Given the description of an element on the screen output the (x, y) to click on. 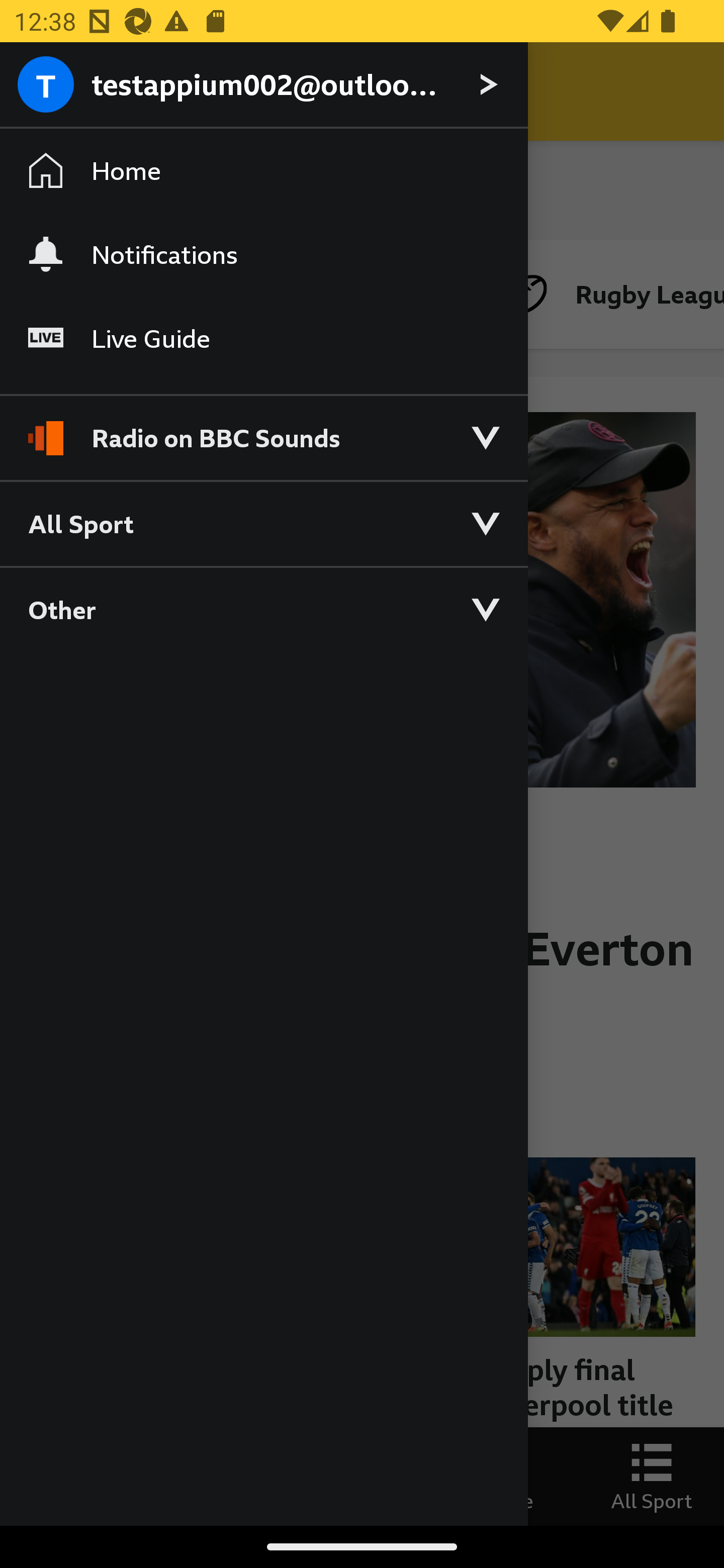
testappium002@outlook.com (263, 85)
Home (263, 170)
Notifications (263, 253)
Live Guide (263, 338)
Radio on BBC Sounds (263, 429)
All Sport (263, 522)
Other (263, 609)
